Given the description of an element on the screen output the (x, y) to click on. 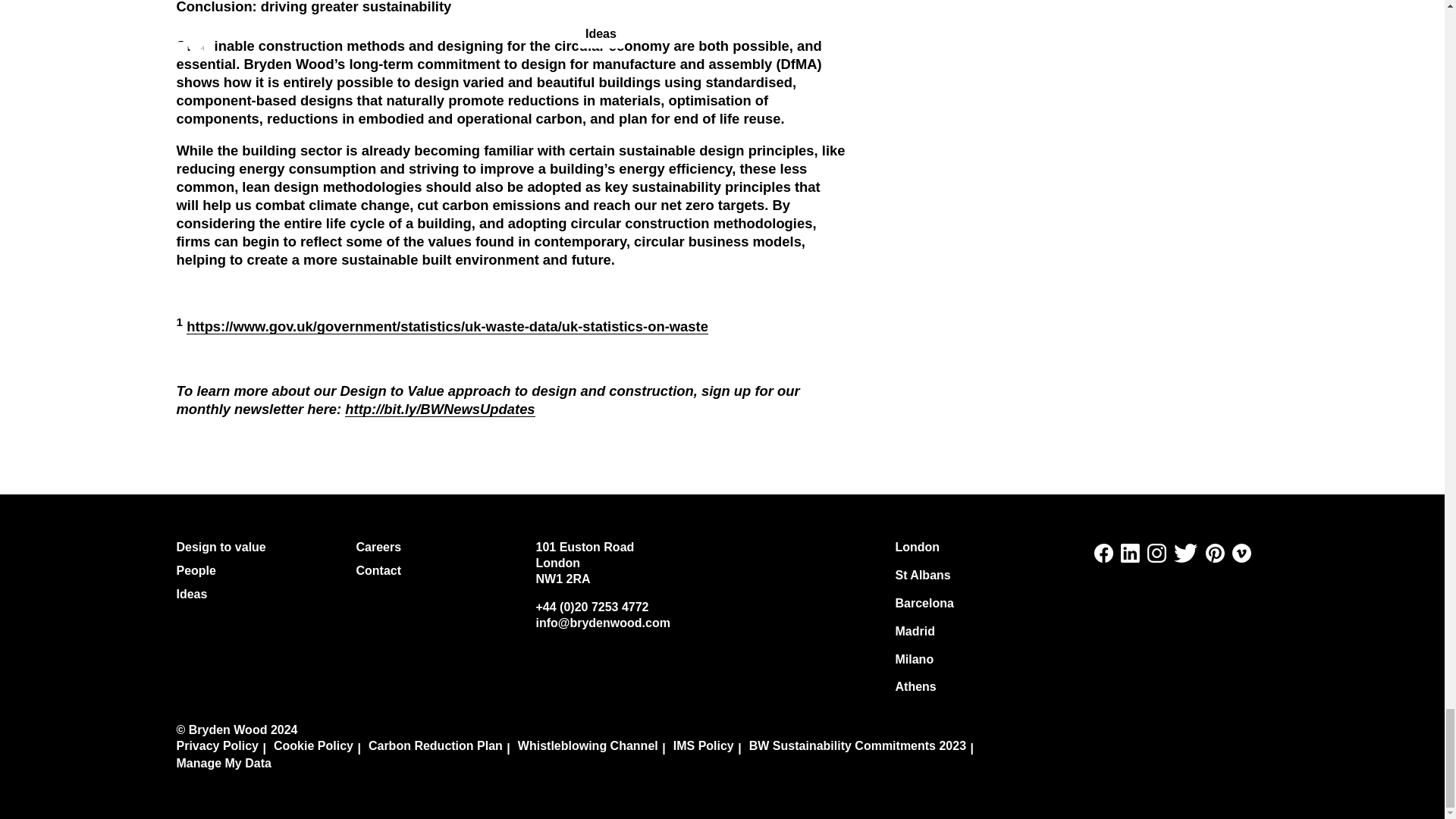
BW Sustainability Commitments 2023 (865, 746)
IMS Policy (710, 746)
Facebook (1103, 558)
Whistleblowing Channel (595, 746)
Cookie Policy (320, 746)
Instagram (1156, 558)
Privacy Policy (224, 746)
Vimeo (1240, 558)
Manage My Data (230, 764)
Carbon Reduction Plan (443, 746)
Twitter (1184, 558)
Pinterest (1214, 558)
Linkedin (1130, 558)
